Given the description of an element on the screen output the (x, y) to click on. 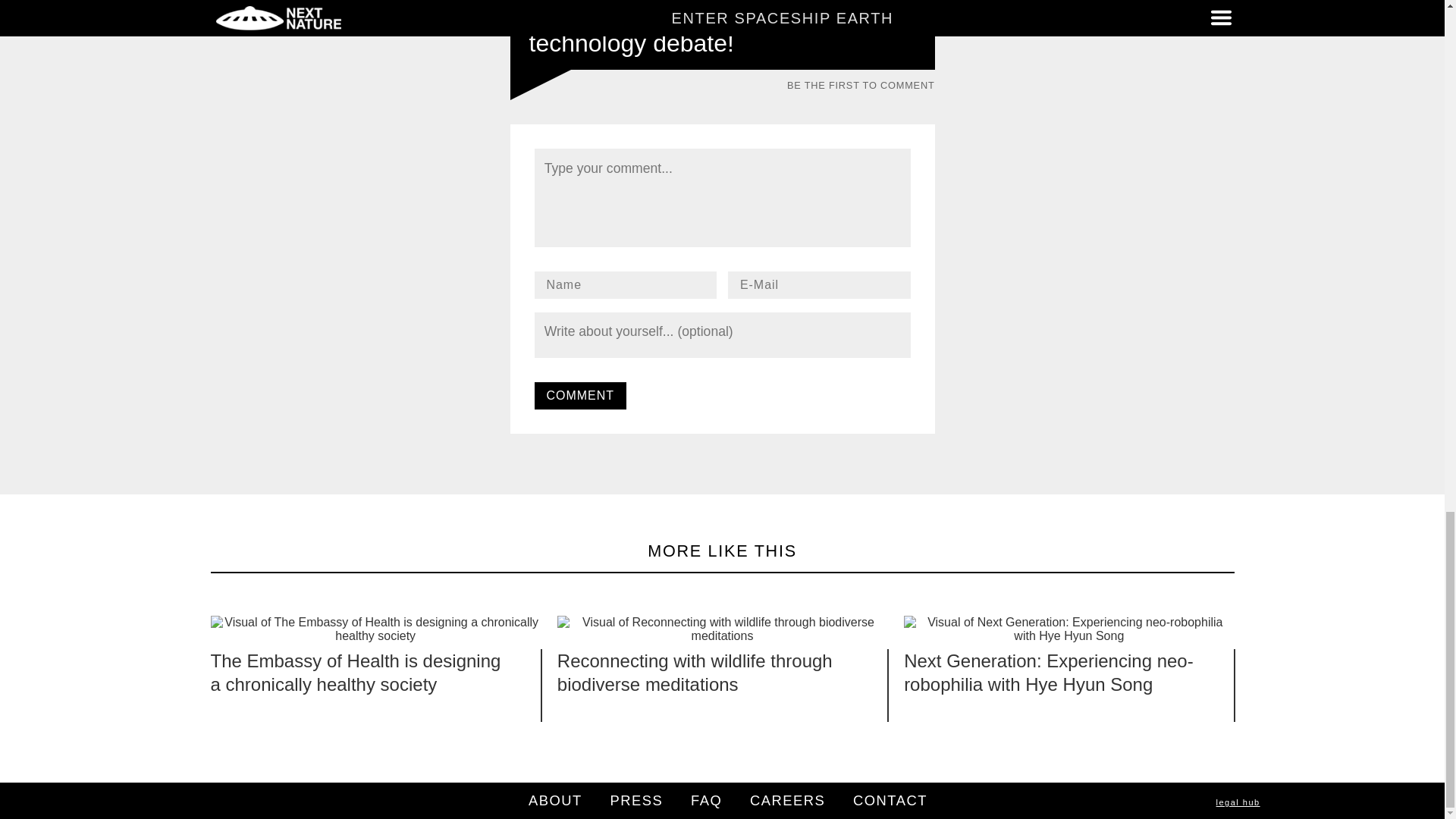
FAQ (706, 800)
Comment (580, 395)
ABOUT (555, 800)
Reconnecting with wildlife through biodiverse meditations (694, 672)
Comment (580, 395)
PRESS (636, 800)
